Given the description of an element on the screen output the (x, y) to click on. 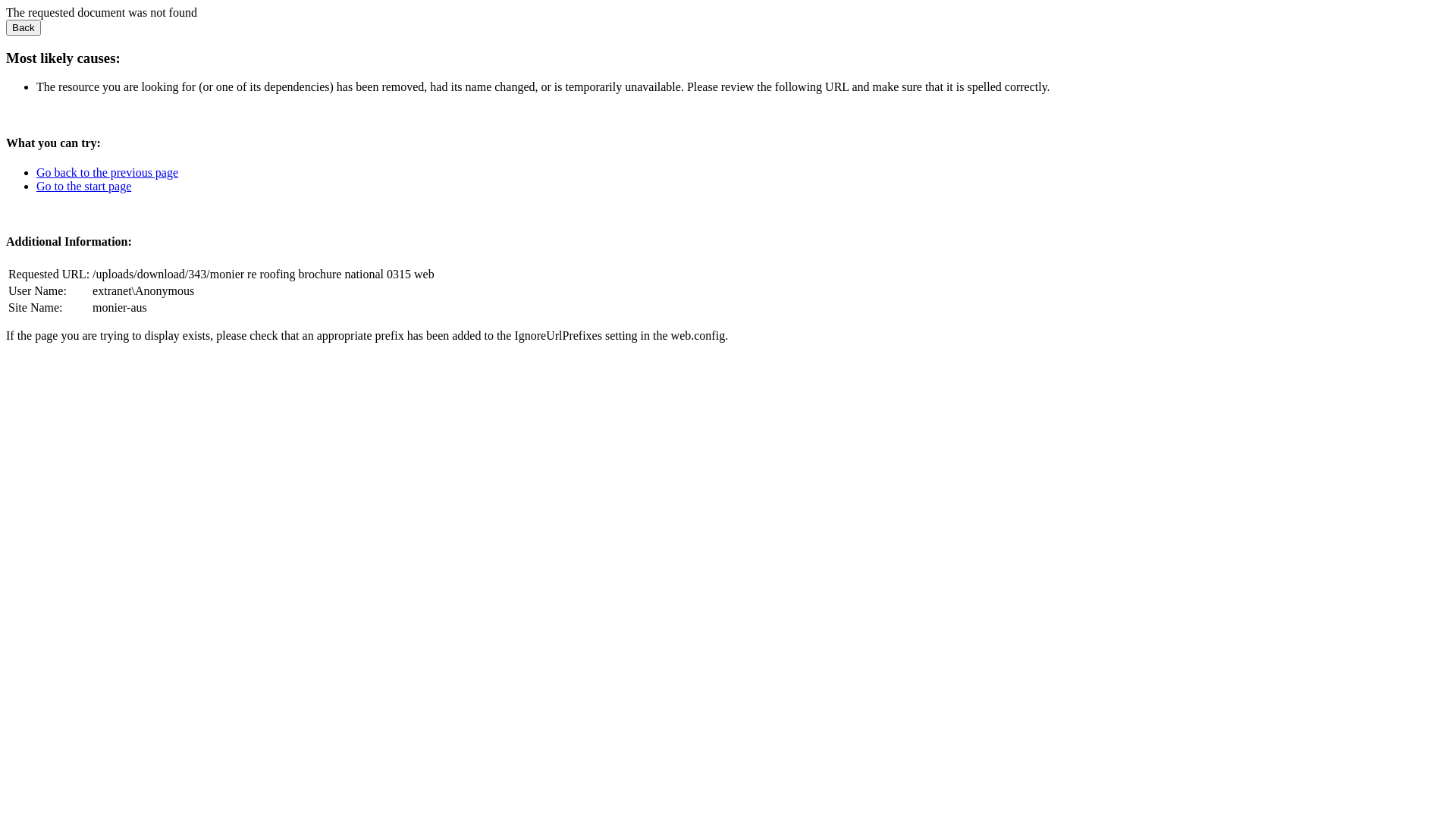
Go back to the previous page Element type: text (107, 172)
Go to the start page Element type: text (83, 185)
Back Element type: text (23, 27)
